Given the description of an element on the screen output the (x, y) to click on. 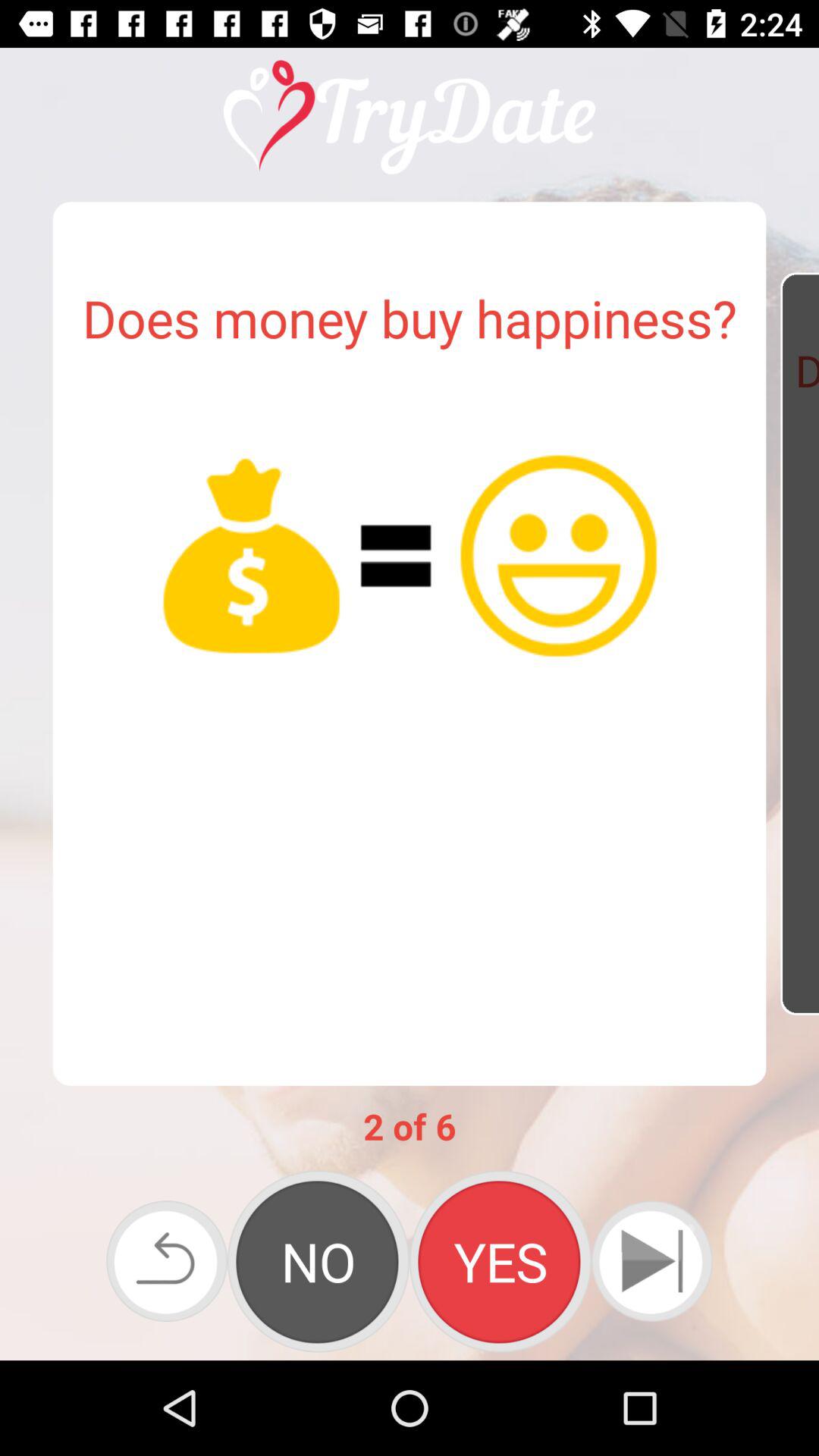
go back (166, 1260)
